Given the description of an element on the screen output the (x, y) to click on. 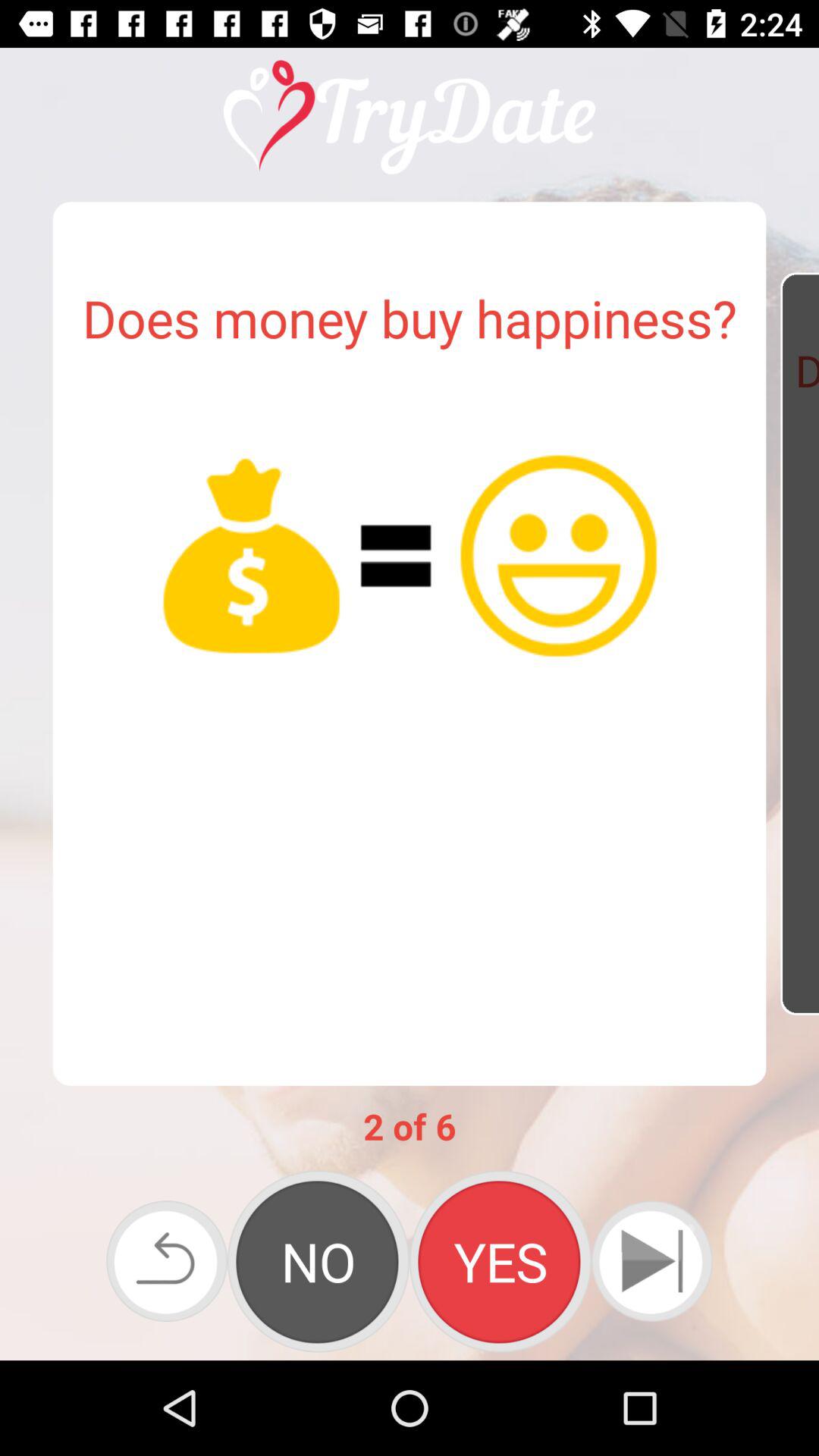
go back (166, 1260)
